Given the description of an element on the screen output the (x, y) to click on. 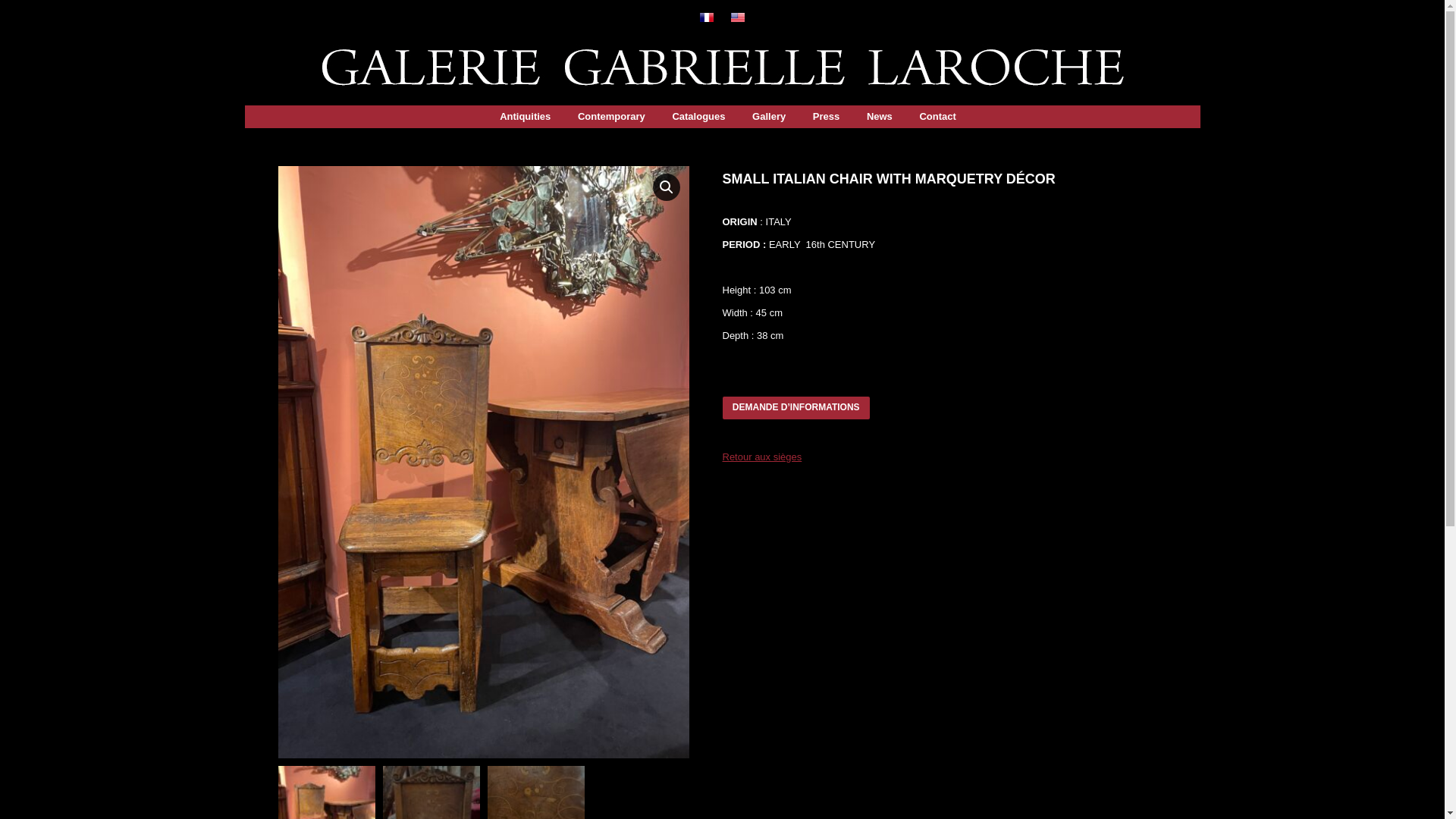
Contemporary (611, 116)
Catalogues (698, 116)
News (879, 116)
Press (826, 116)
Antiquities (525, 116)
Contact (937, 116)
Gallery (768, 116)
